Given the description of an element on the screen output the (x, y) to click on. 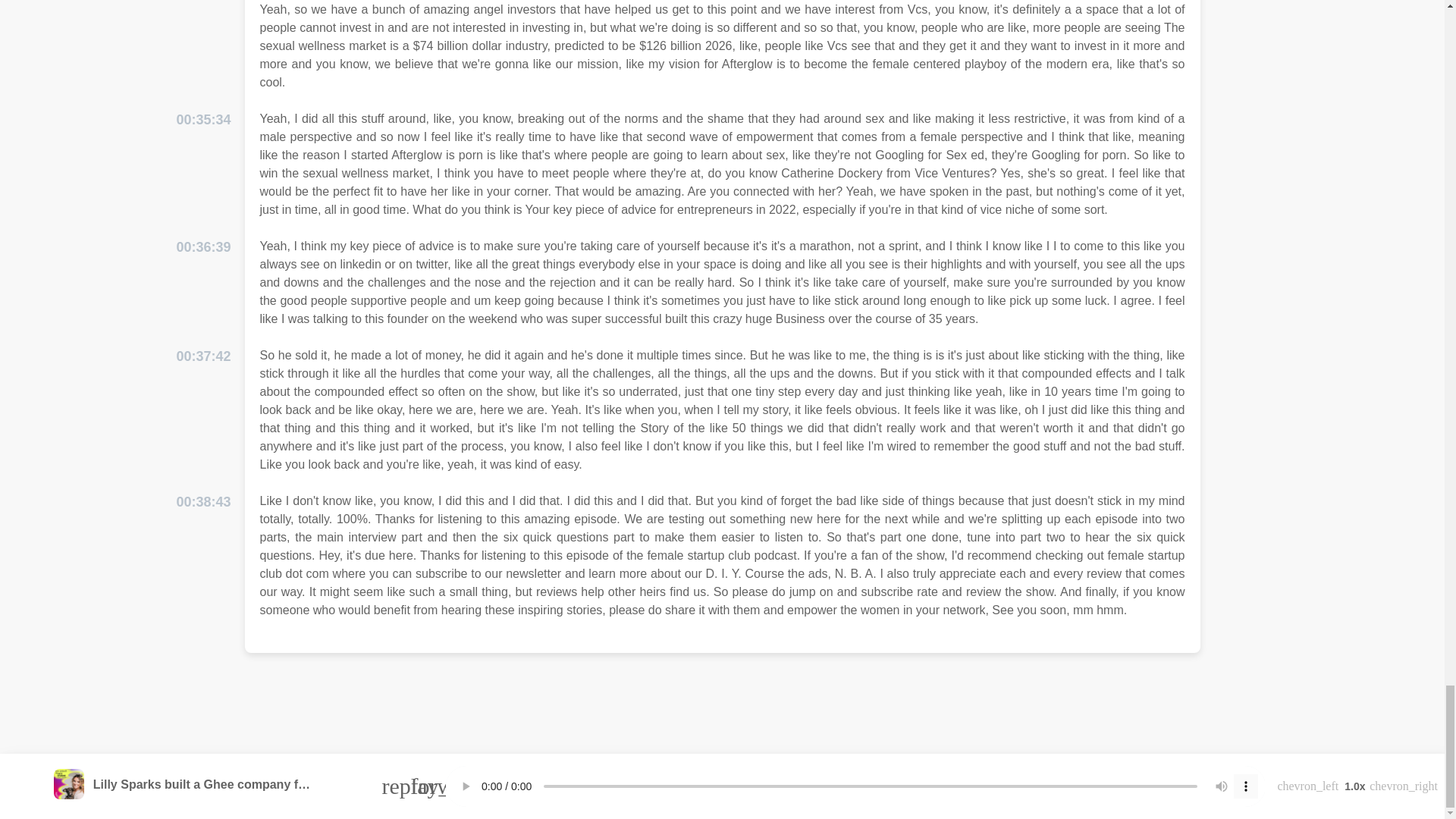
00:36:39 (203, 247)
00:38:43 (203, 502)
00:37:42 (203, 356)
00:35:34 (203, 119)
